Given the description of an element on the screen output the (x, y) to click on. 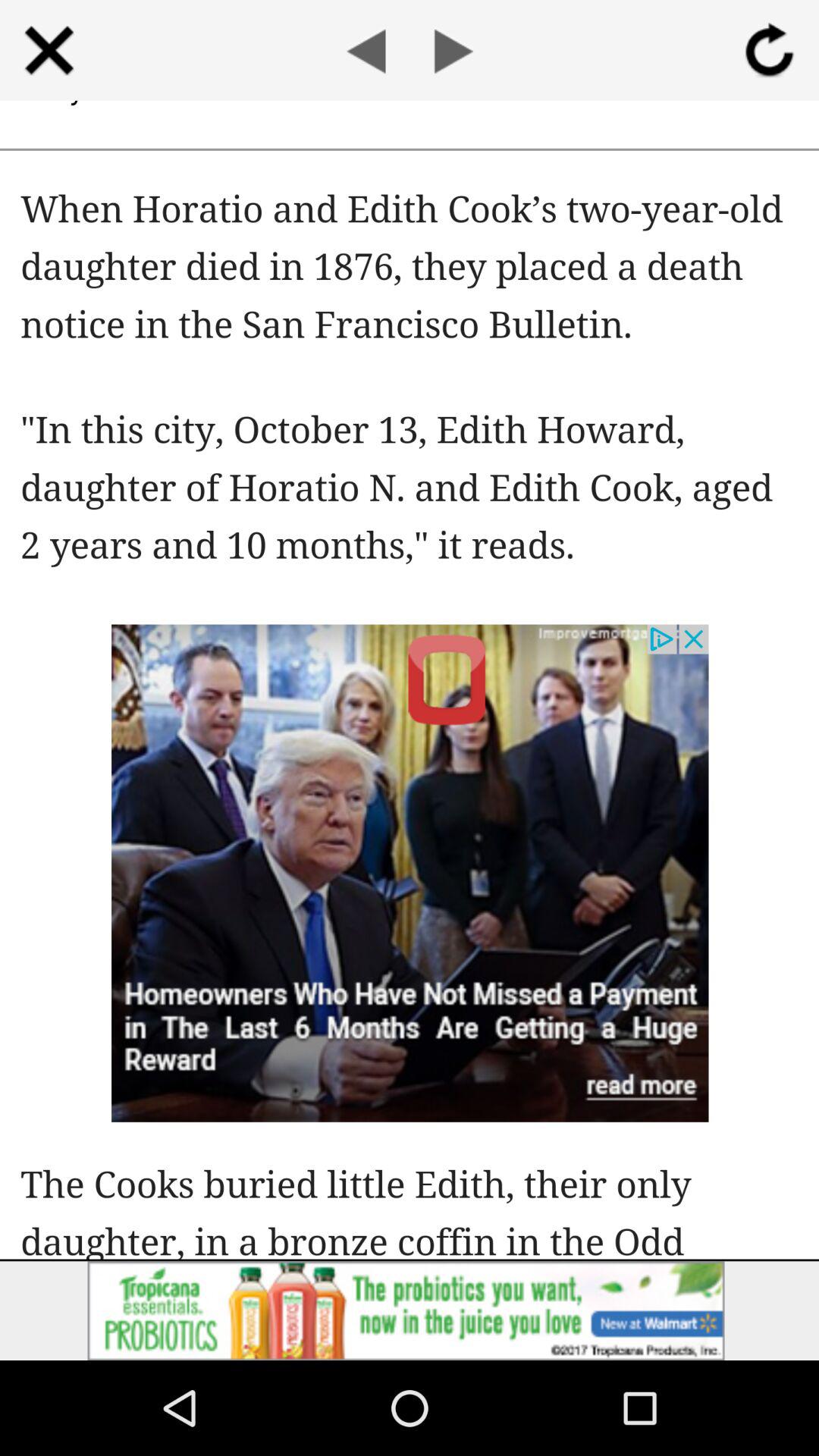
go to previous (365, 49)
